Given the description of an element on the screen output the (x, y) to click on. 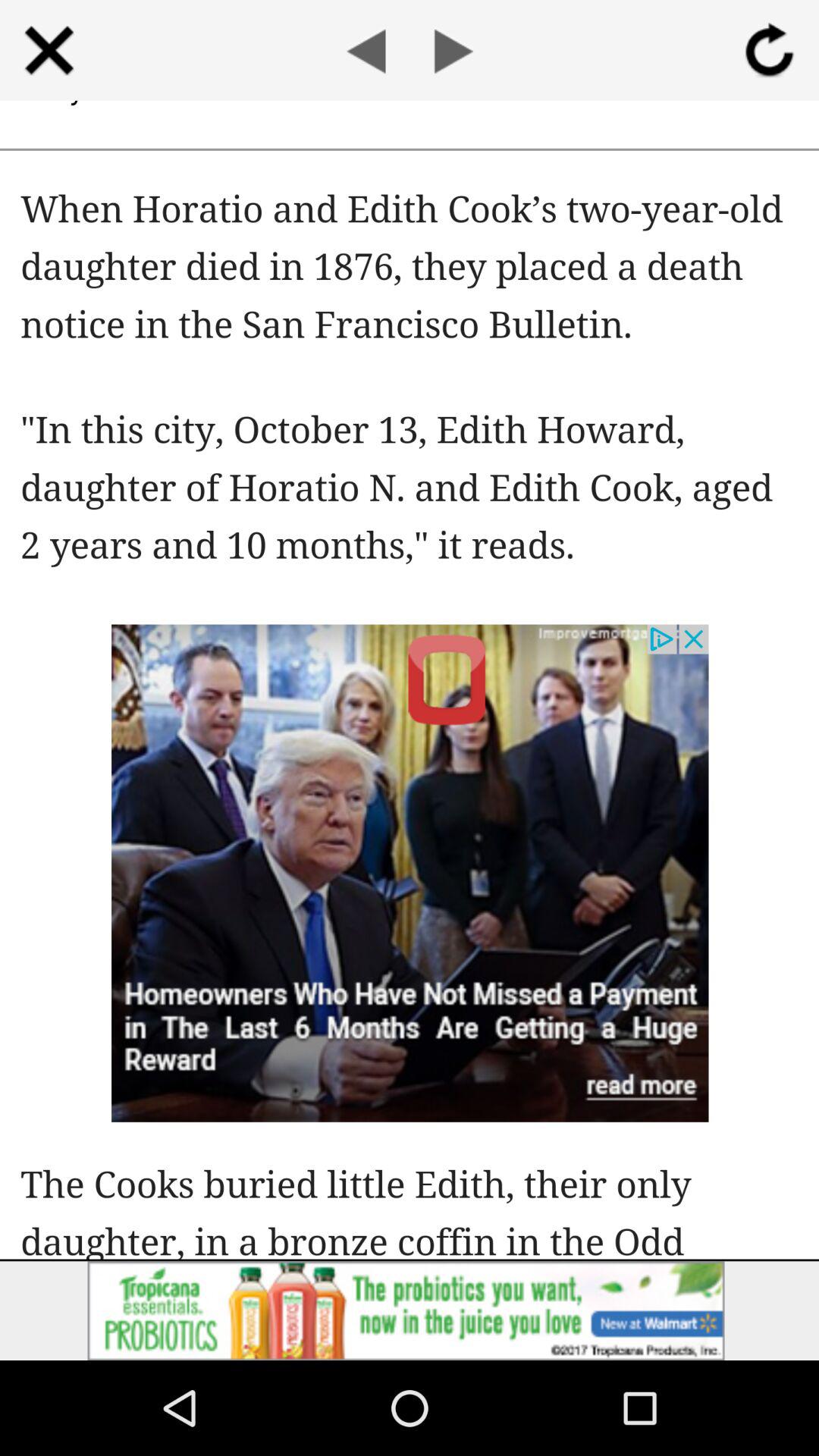
go to previous (365, 49)
